Given the description of an element on the screen output the (x, y) to click on. 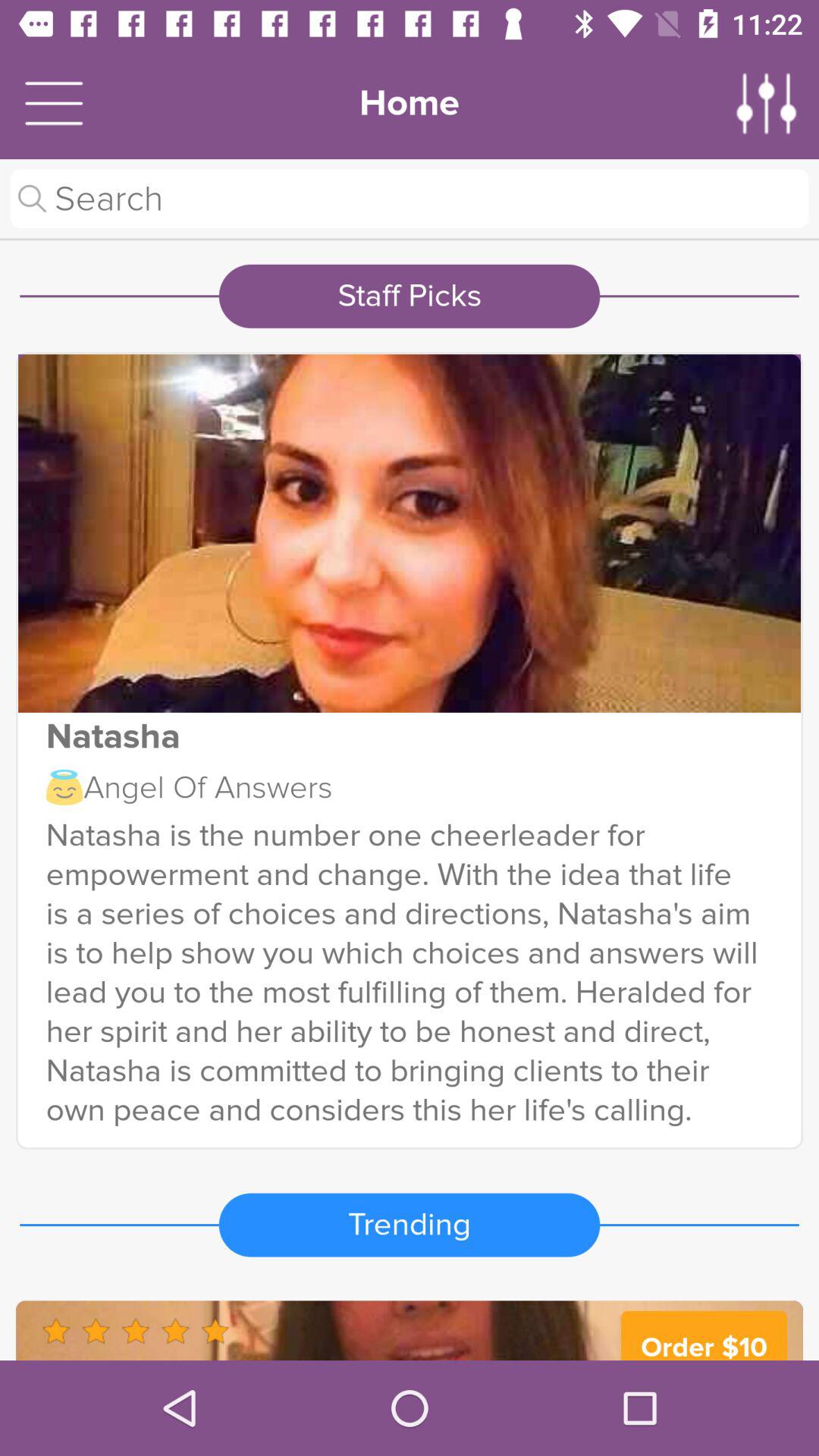
show the full image (409, 533)
